Given the description of an element on the screen output the (x, y) to click on. 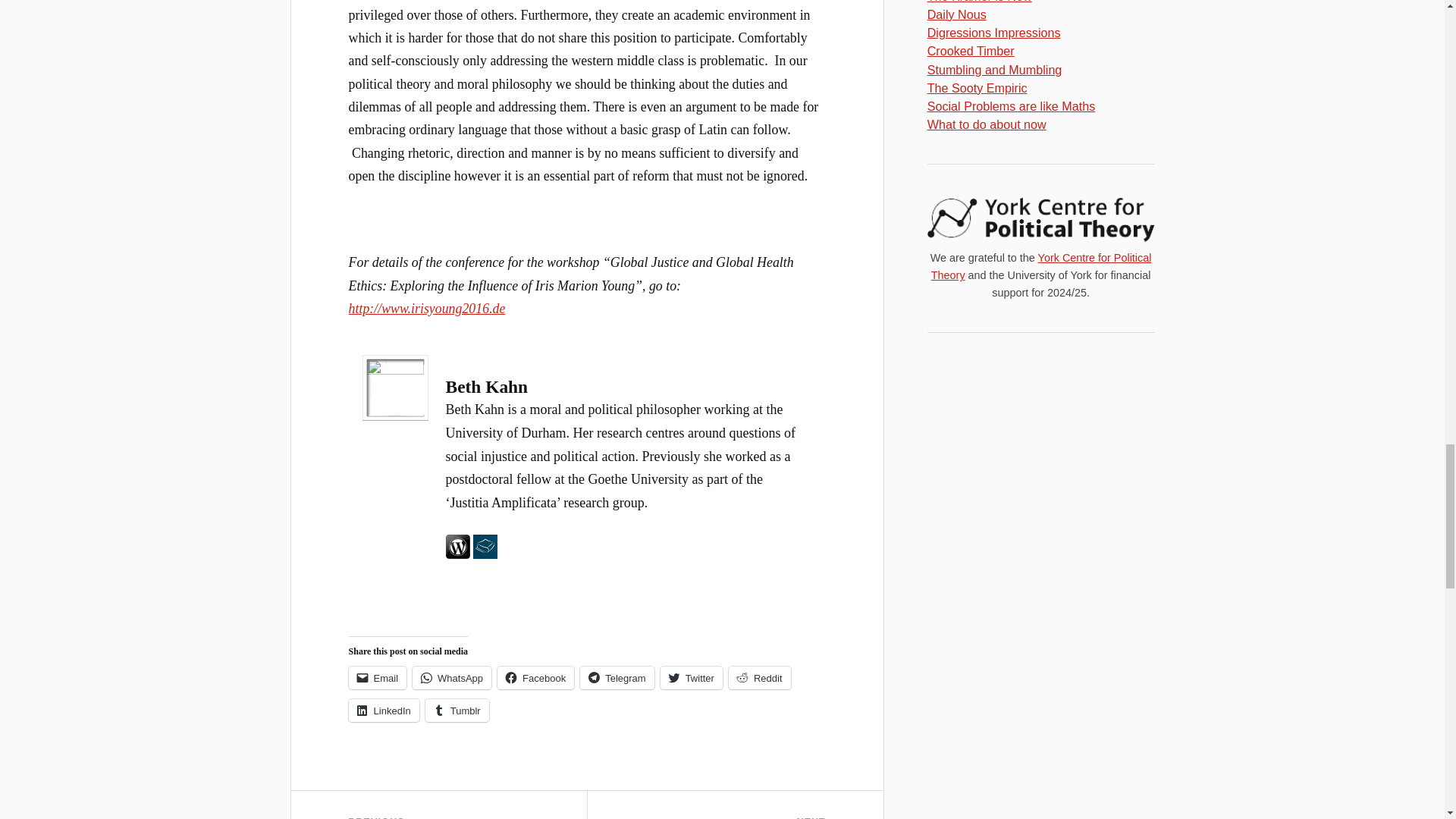
Click to share on LinkedIn (384, 710)
Click to share on Facebook (535, 677)
Click to share on Tumblr (457, 710)
Click to share on WhatsApp (452, 677)
Click to share on Twitter (691, 677)
Click to email a link to a friend (378, 677)
Click to share on Reddit (759, 677)
Click to share on Telegram (616, 677)
